Given the description of an element on the screen output the (x, y) to click on. 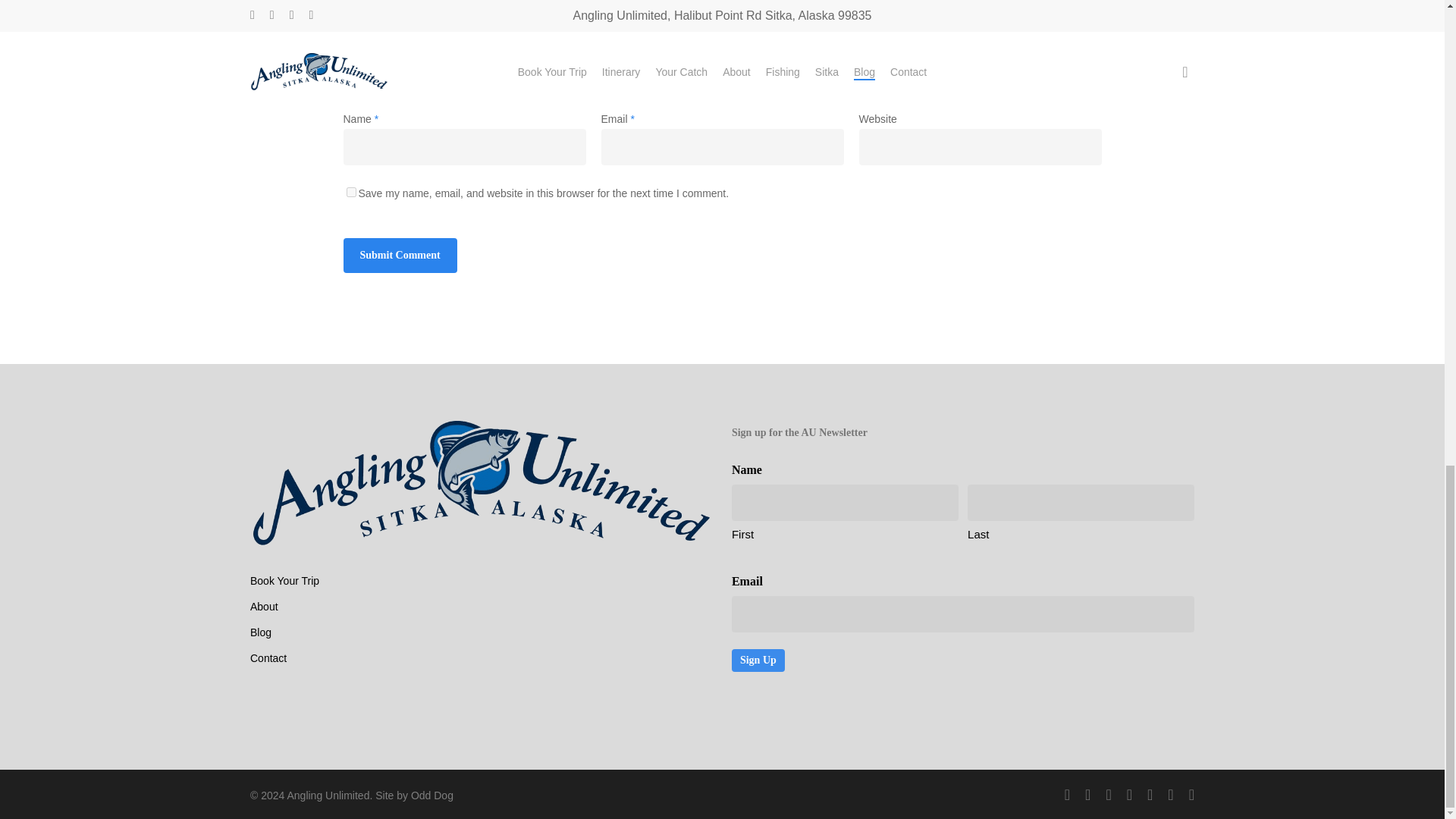
Submit Comment (399, 255)
Sign Up (758, 660)
yes (350, 192)
